Given the description of an element on the screen output the (x, y) to click on. 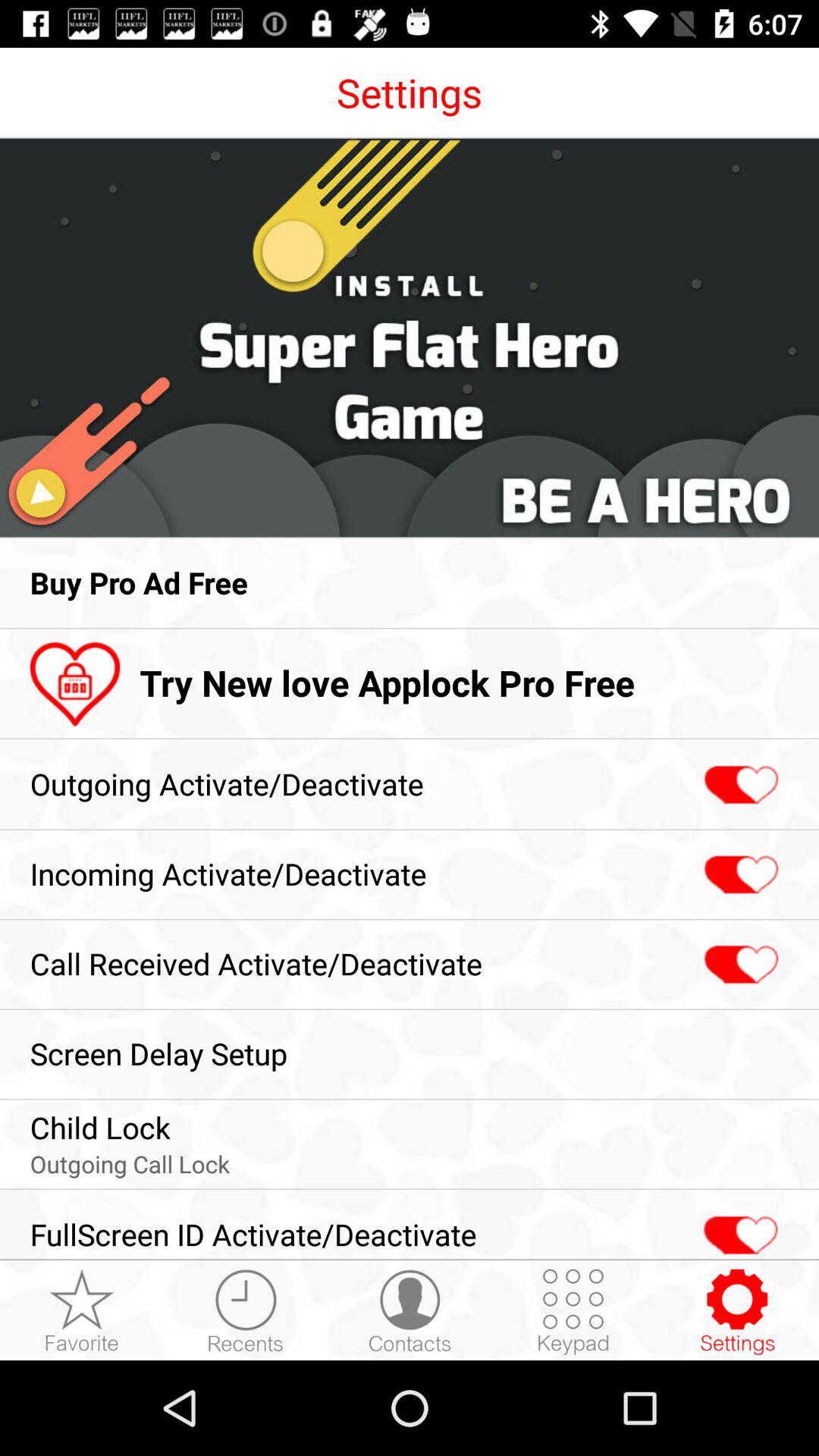
install game (409, 337)
